Given the description of an element on the screen output the (x, y) to click on. 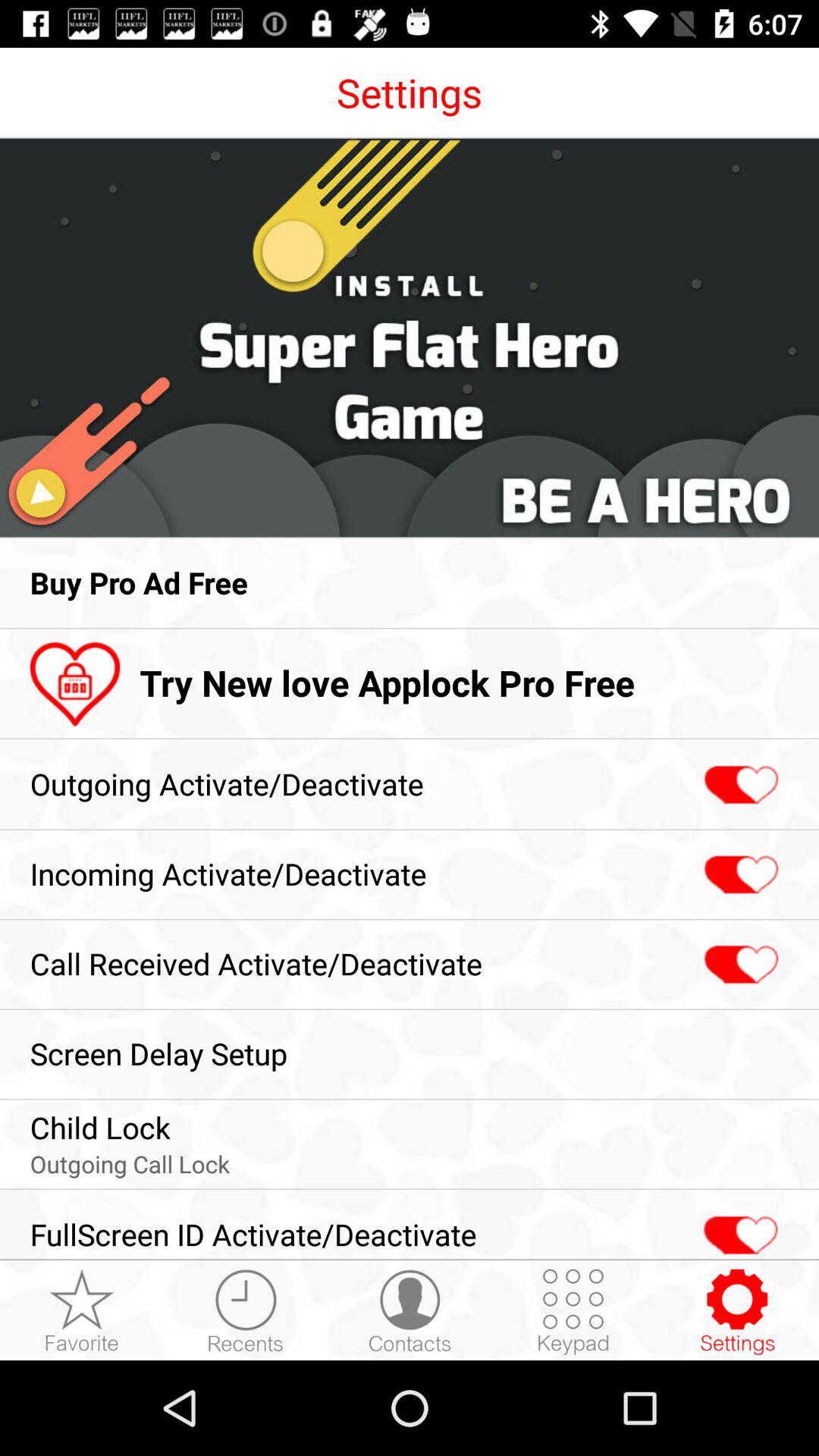
install game (409, 337)
